Given the description of an element on the screen output the (x, y) to click on. 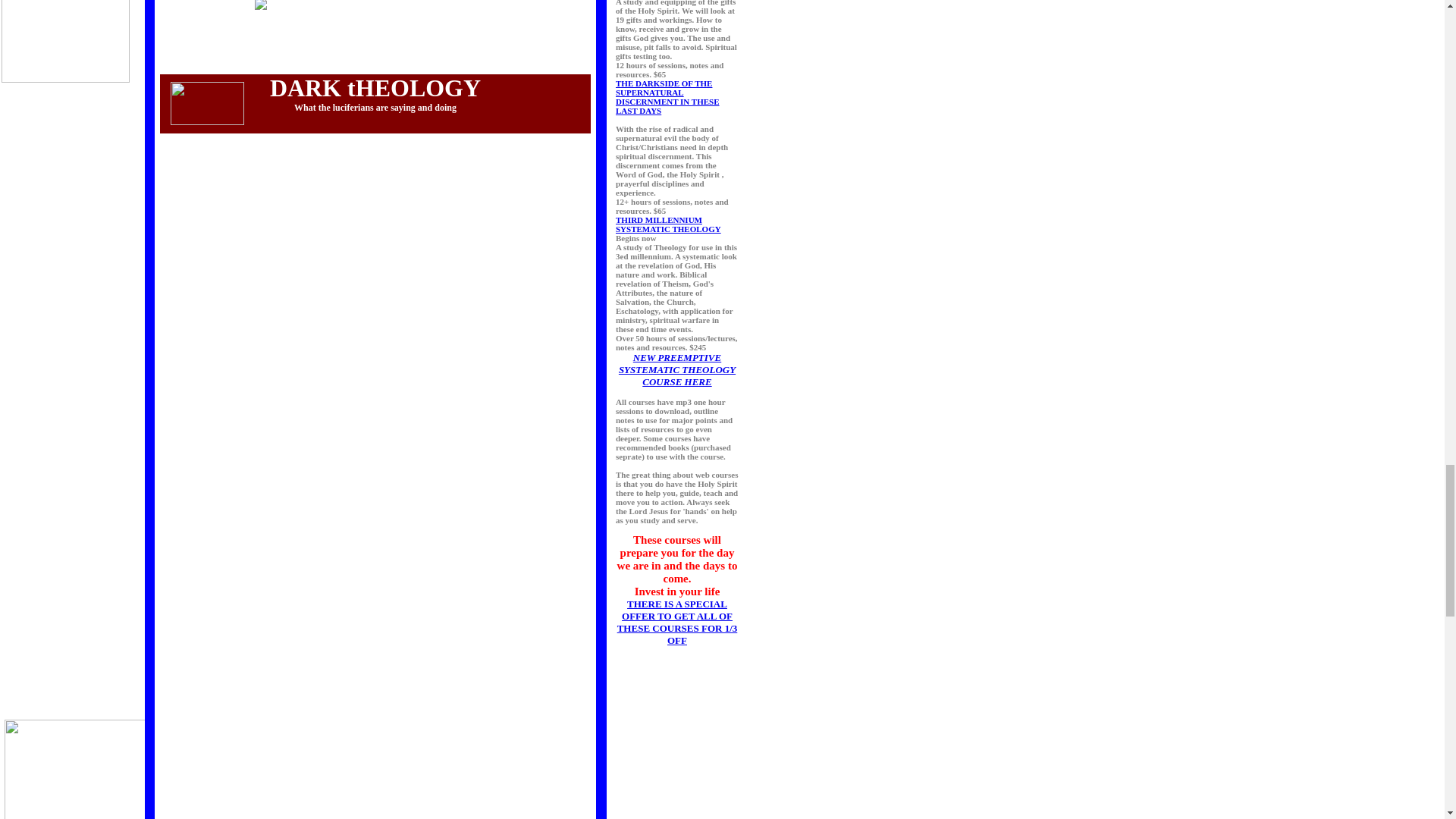
DISCERNMENT IN THESE LAST DAYS (667, 106)
NEW PREEMPTIVE SYSTEMATIC THEOLOGY COURSE HERE (676, 369)
THE DARKSIDE OF THE SUPERNATURAL (663, 87)
THIS COURSE WILL BUILD AND EQUIPP YOU (676, 369)
THIRD MILLENNIUM SYSTEMATIC THEOLOGY (667, 224)
